Given the description of an element on the screen output the (x, y) to click on. 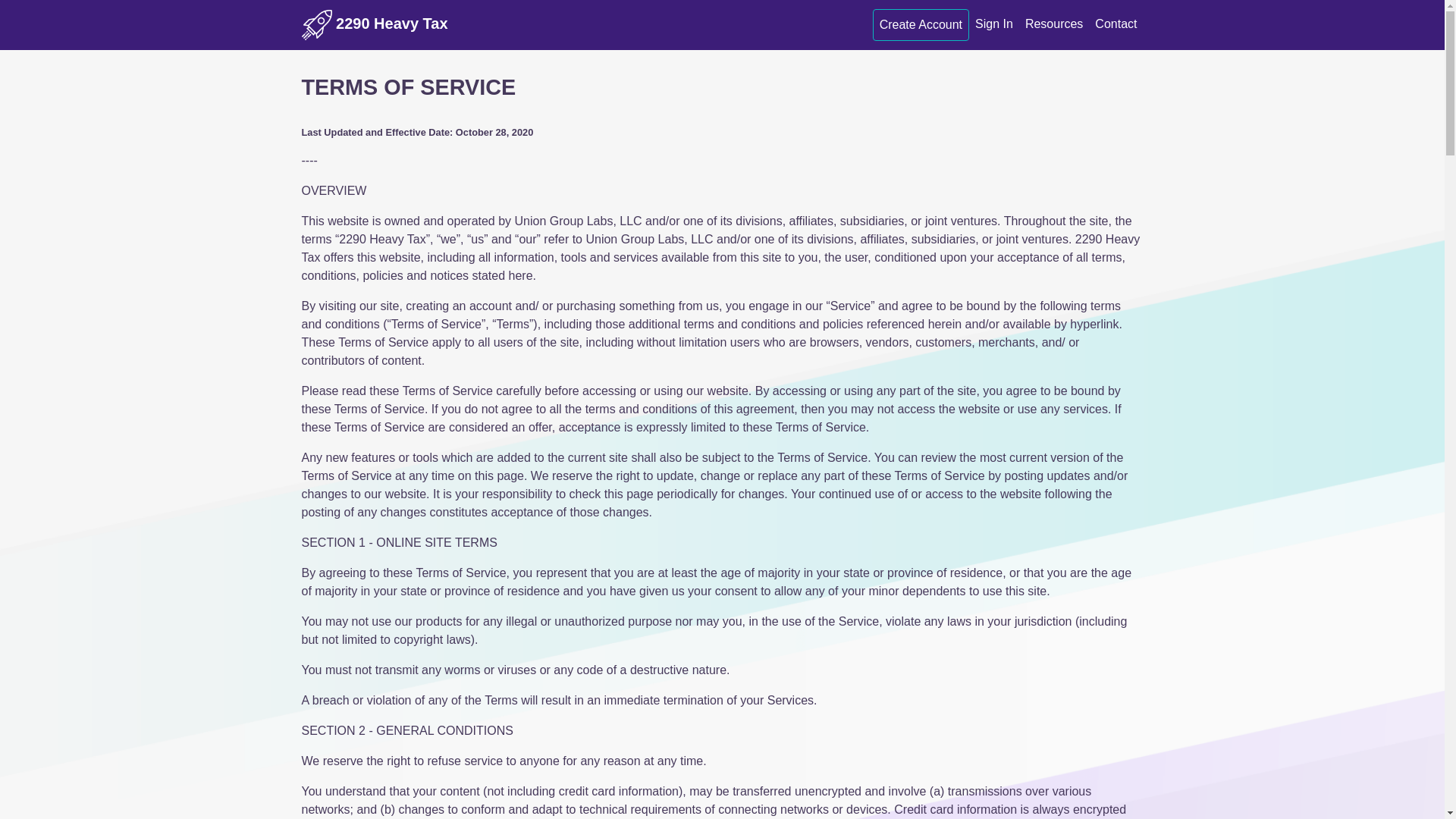
Resources Element type: text (1053, 24)
Contact Element type: text (1115, 24)
Create Account Element type: text (920, 24)
2290 Heavy Tax Element type: text (374, 24)
Sign In Element type: text (994, 24)
